Given the description of an element on the screen output the (x, y) to click on. 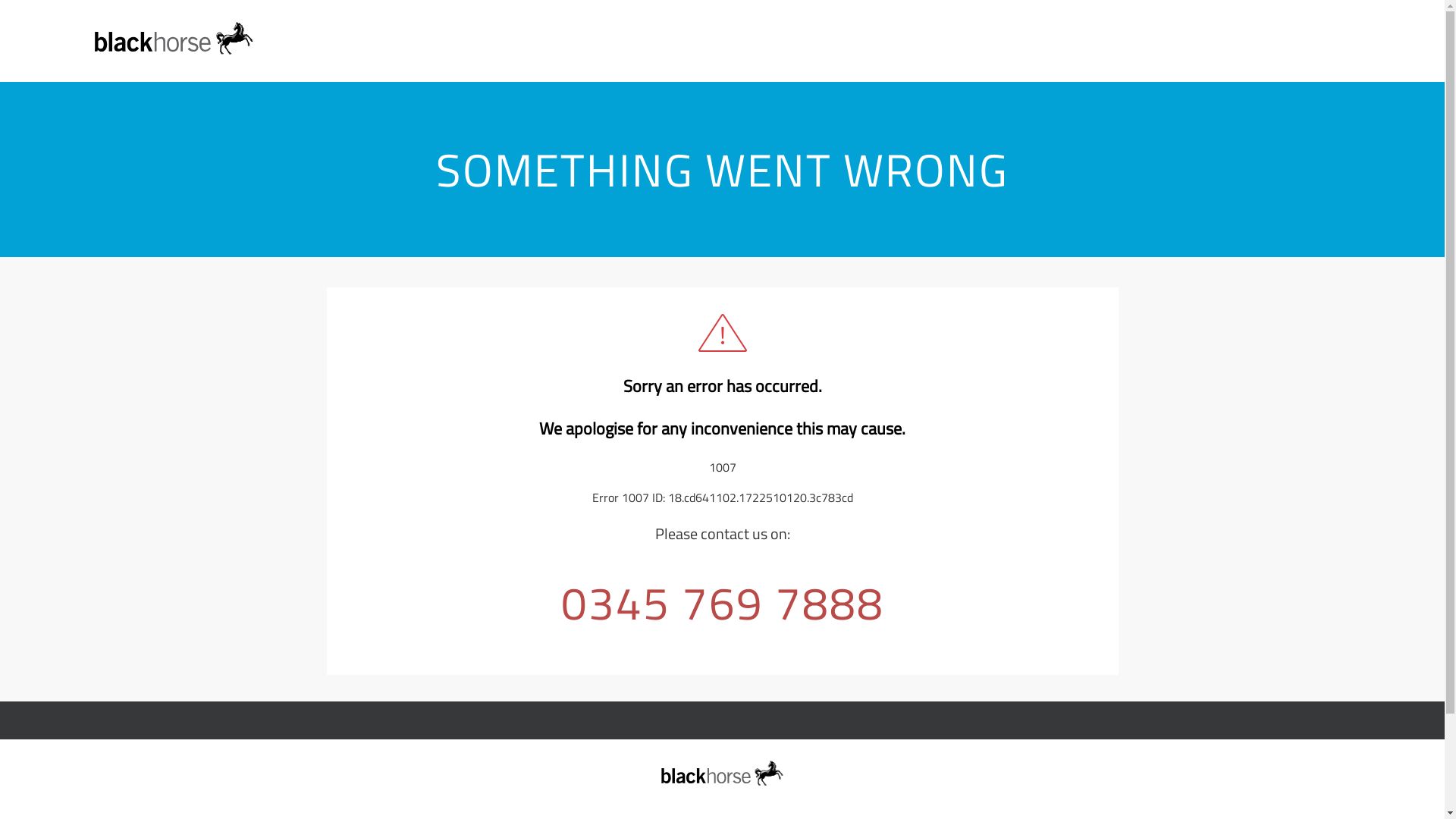
A2D180D4-94A7-488A-B61E-D545A30BEA32 (722, 773)
A2D180D4-94A7-488A-B61E-D545A30BEA32 (173, 38)
0345 769 7888 (721, 602)
